Given the description of an element on the screen output the (x, y) to click on. 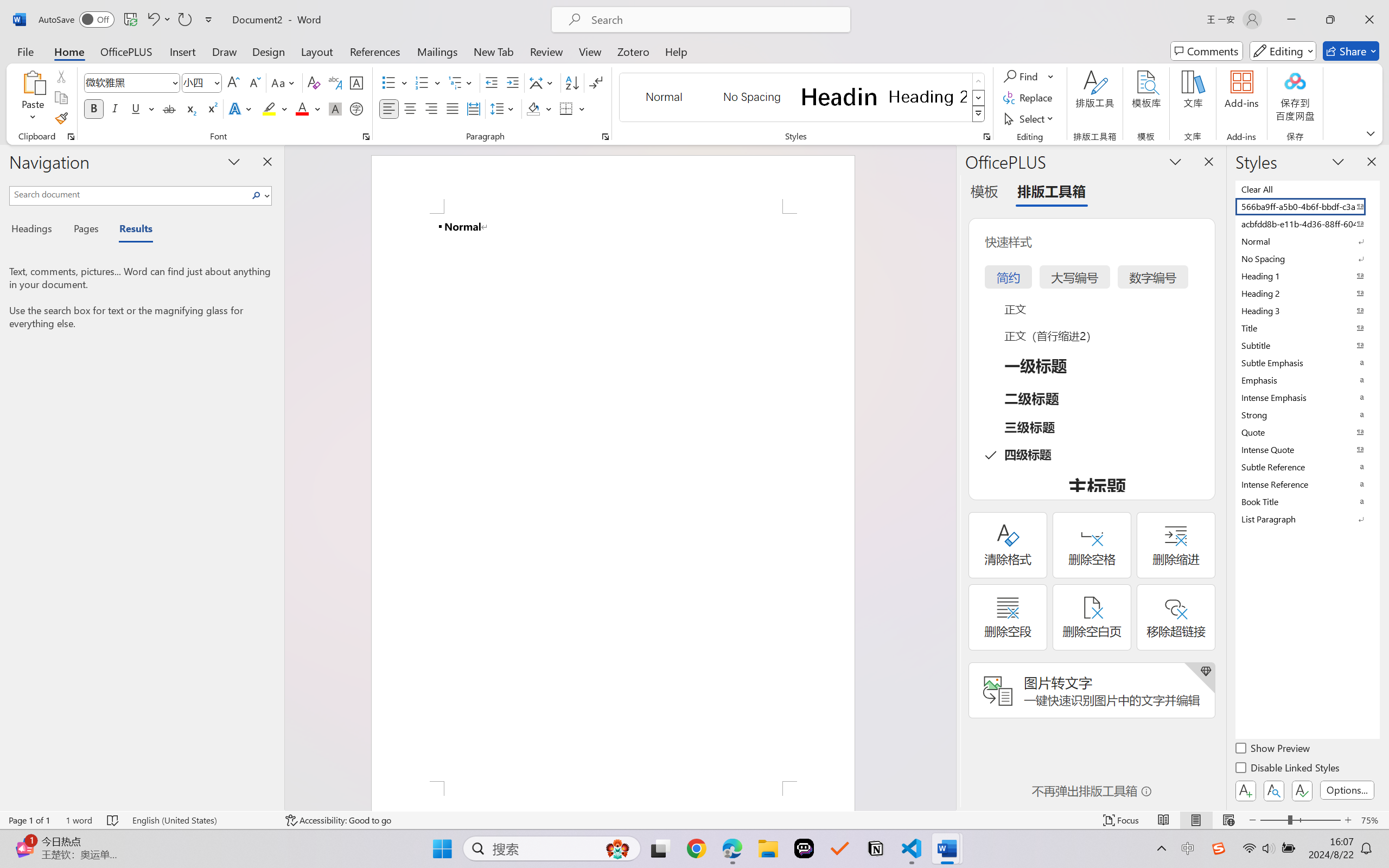
Styles (978, 113)
Select (1030, 118)
Shrink Font (253, 82)
Strikethrough (169, 108)
Grow Font (233, 82)
Subtitle (1306, 345)
Options... (1346, 789)
AutomationID: DynamicSearchBoxGleamImage (617, 848)
Font Size (196, 82)
Clear All (1306, 188)
Page 1 content (612, 497)
Class: NetUIScrollBar (948, 477)
